Given the description of an element on the screen output the (x, y) to click on. 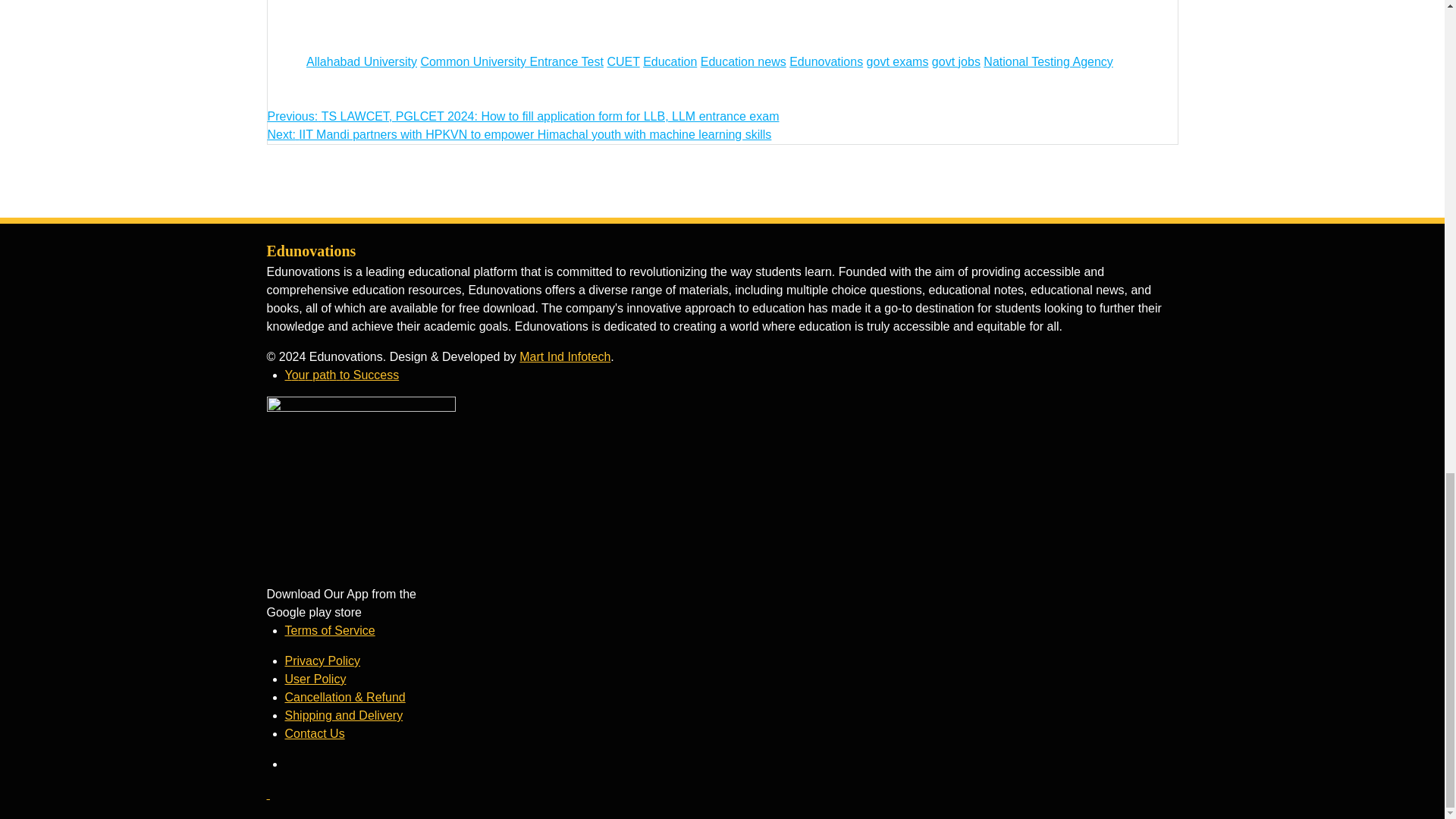
govt exams (897, 61)
CUET (623, 61)
Common University Entrance Test (512, 61)
YouTube video player (515, 23)
Allahabad University (360, 61)
Education news (743, 61)
National Testing Agency (1048, 61)
govt jobs (955, 61)
Education (670, 61)
